Given the description of an element on the screen output the (x, y) to click on. 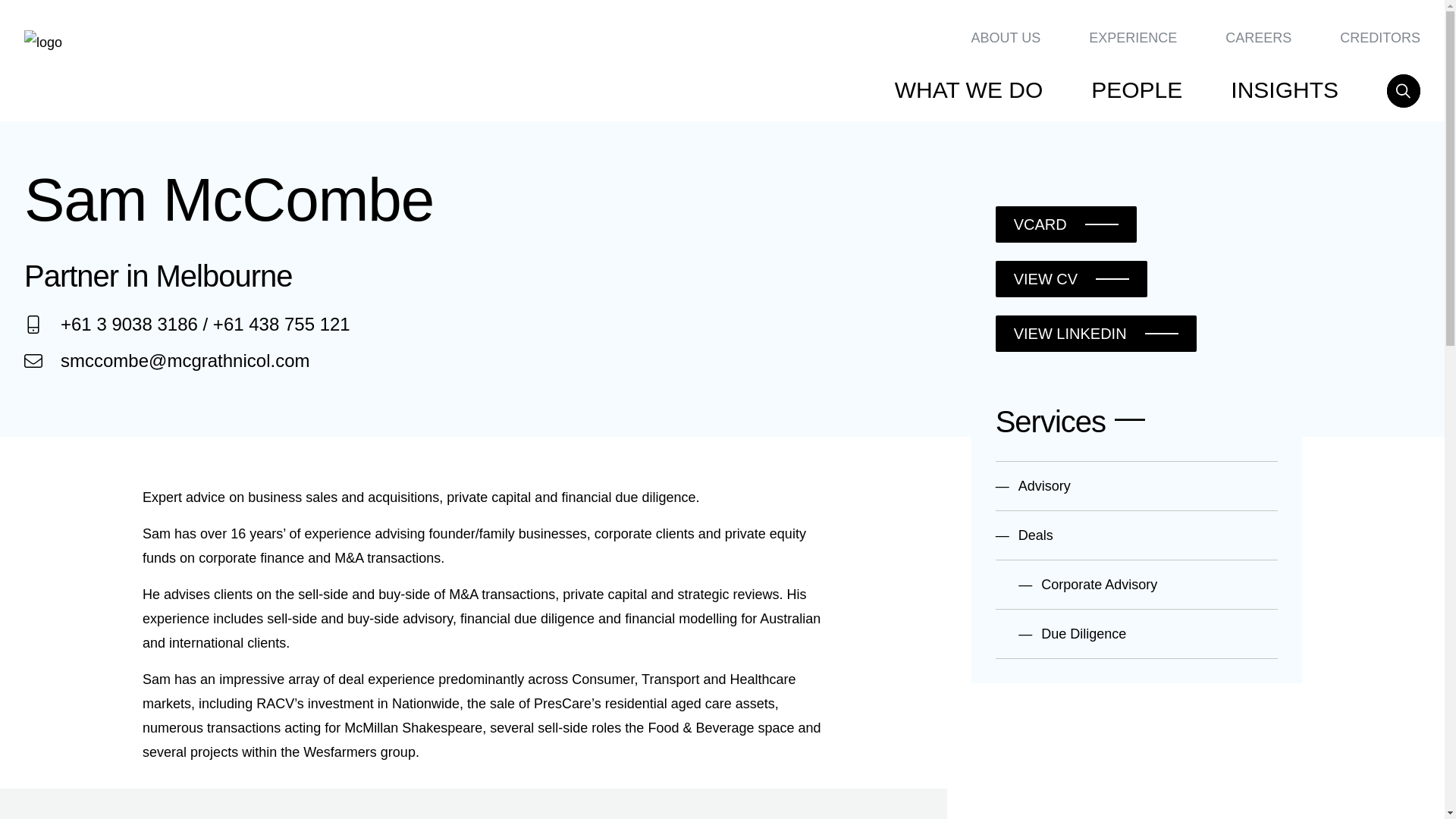
Insights (1284, 90)
VIEW CV (1071, 279)
People (1136, 90)
Deals (1136, 534)
About Us (1006, 37)
CREDITORS (1380, 37)
Creditors (1380, 37)
What We Do (969, 90)
VIEW LINKEDIN (1095, 333)
WHAT WE DO (969, 90)
Due Diligence (1136, 634)
INSIGHTS (1284, 90)
PEOPLE (1136, 90)
Button linking to  (1066, 224)
Experience (1132, 37)
